Given the description of an element on the screen output the (x, y) to click on. 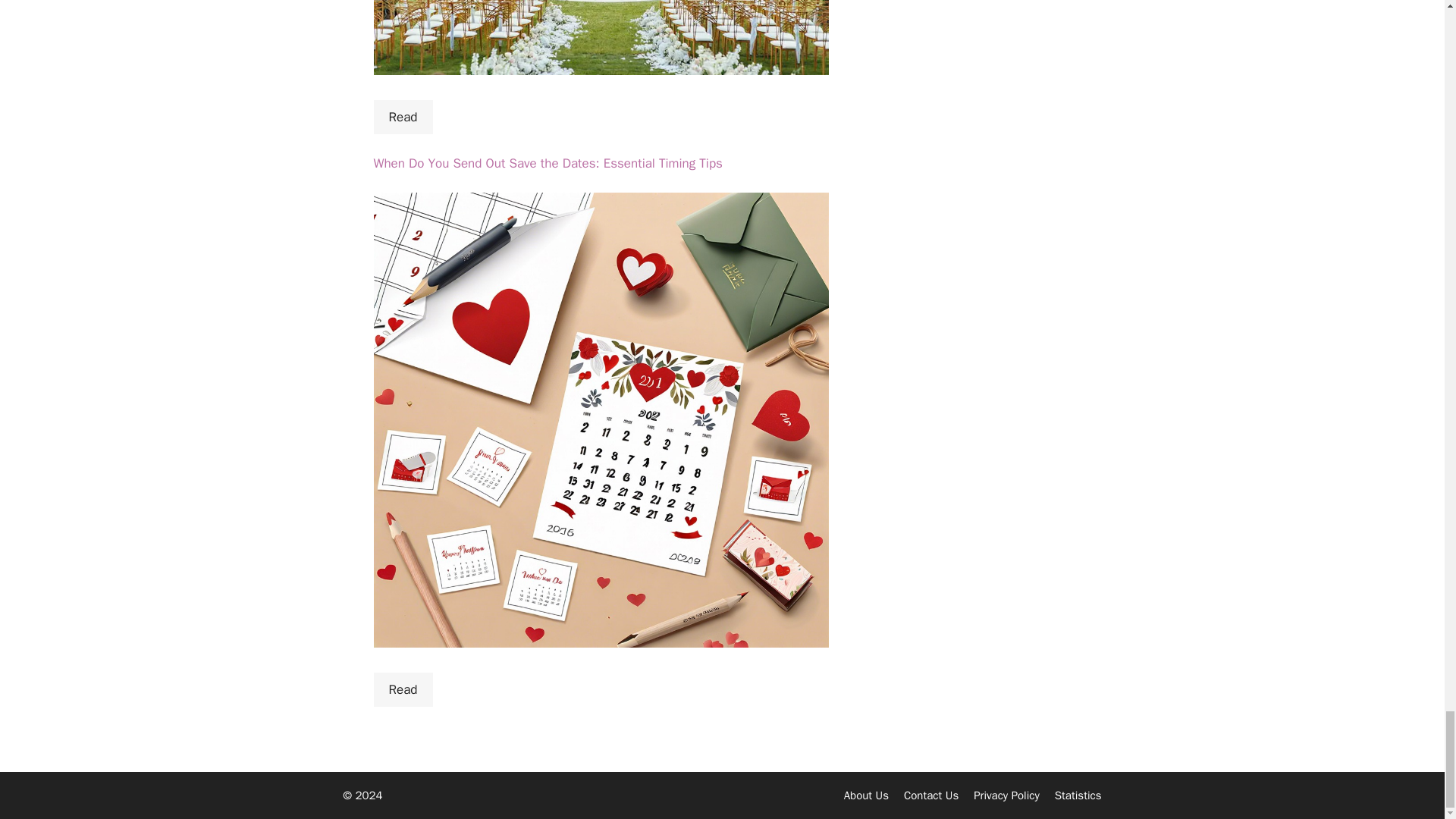
When Do You Send Out Save the Dates: Essential Timing Tips (547, 163)
About Us (866, 795)
Read (402, 117)
Contact Us (931, 795)
Read (402, 689)
Statistics (1078, 795)
When Do You Send Out Save the Dates: Essential Timing Tips (547, 163)
Privacy Policy (1006, 795)
